Given the description of an element on the screen output the (x, y) to click on. 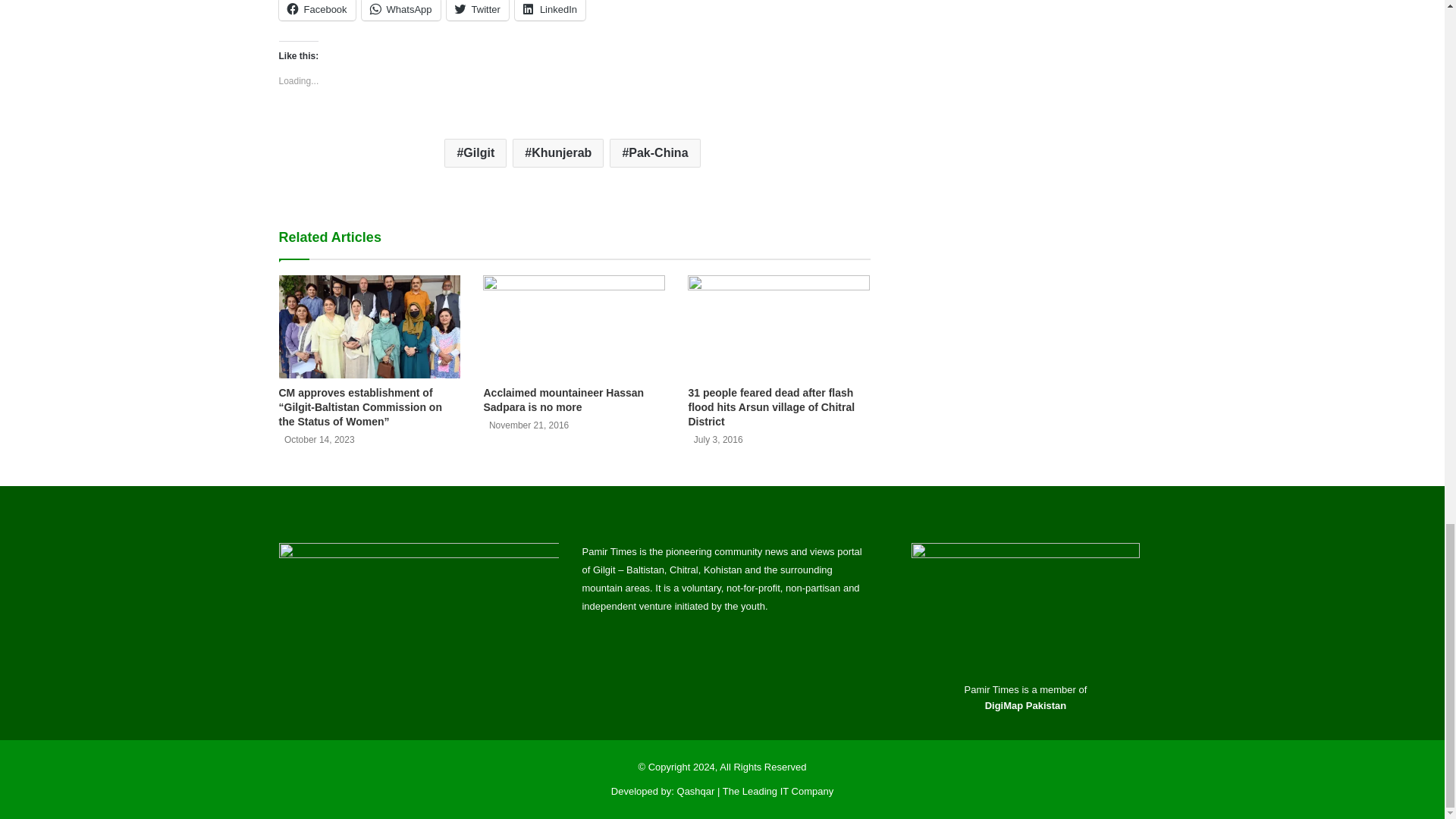
Click to share on LinkedIn (550, 10)
Click to share on Facebook (317, 10)
Twitter (477, 10)
WhatsApp (401, 10)
Facebook (317, 10)
Click to share on WhatsApp (401, 10)
LinkedIn (550, 10)
Click to share on Twitter (477, 10)
